Given the description of an element on the screen output the (x, y) to click on. 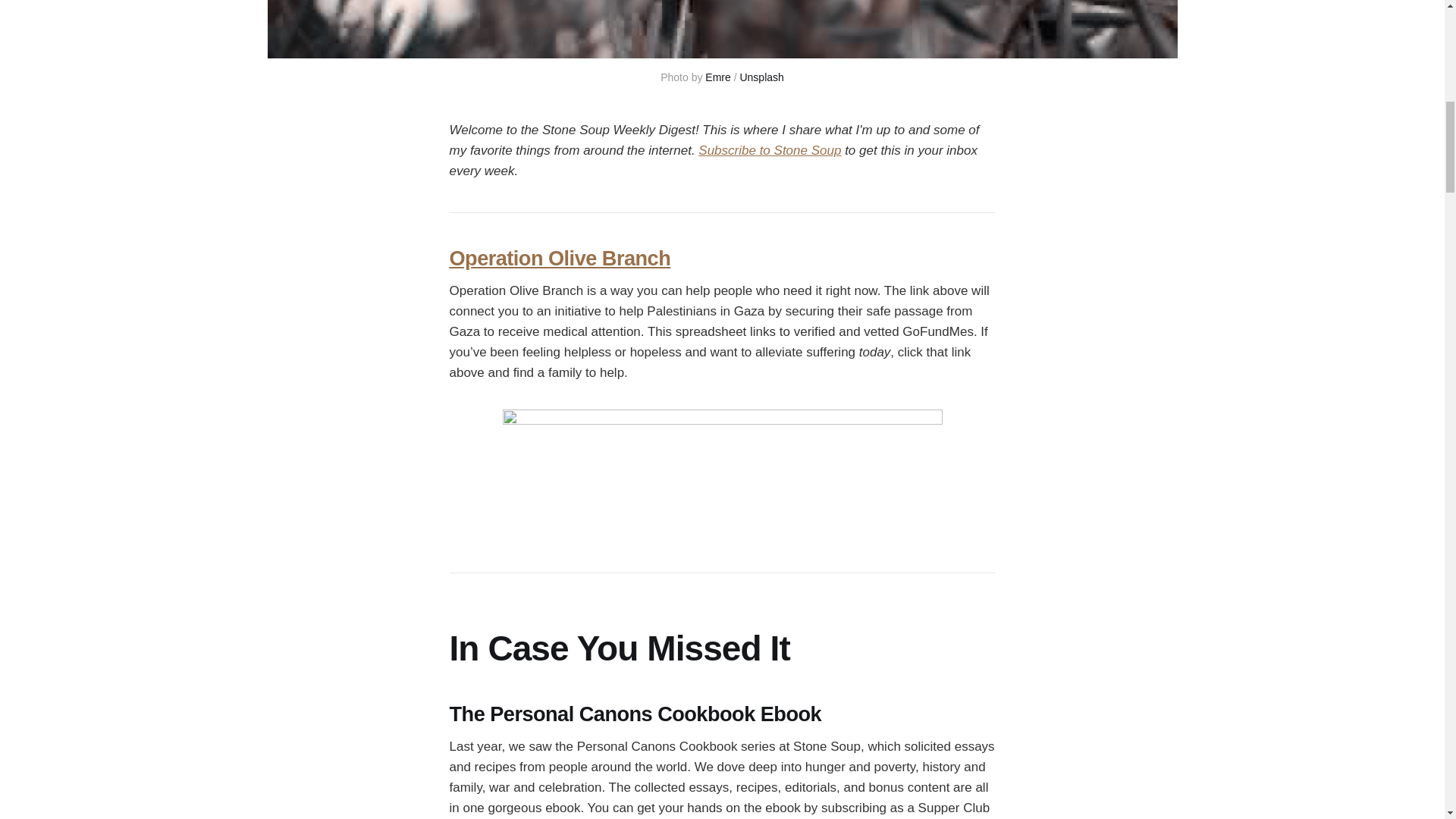
Operation Olive Branch (558, 258)
Subscribe to Stone Soup (769, 150)
Unsplash (761, 77)
Emre (717, 77)
